Given the description of an element on the screen output the (x, y) to click on. 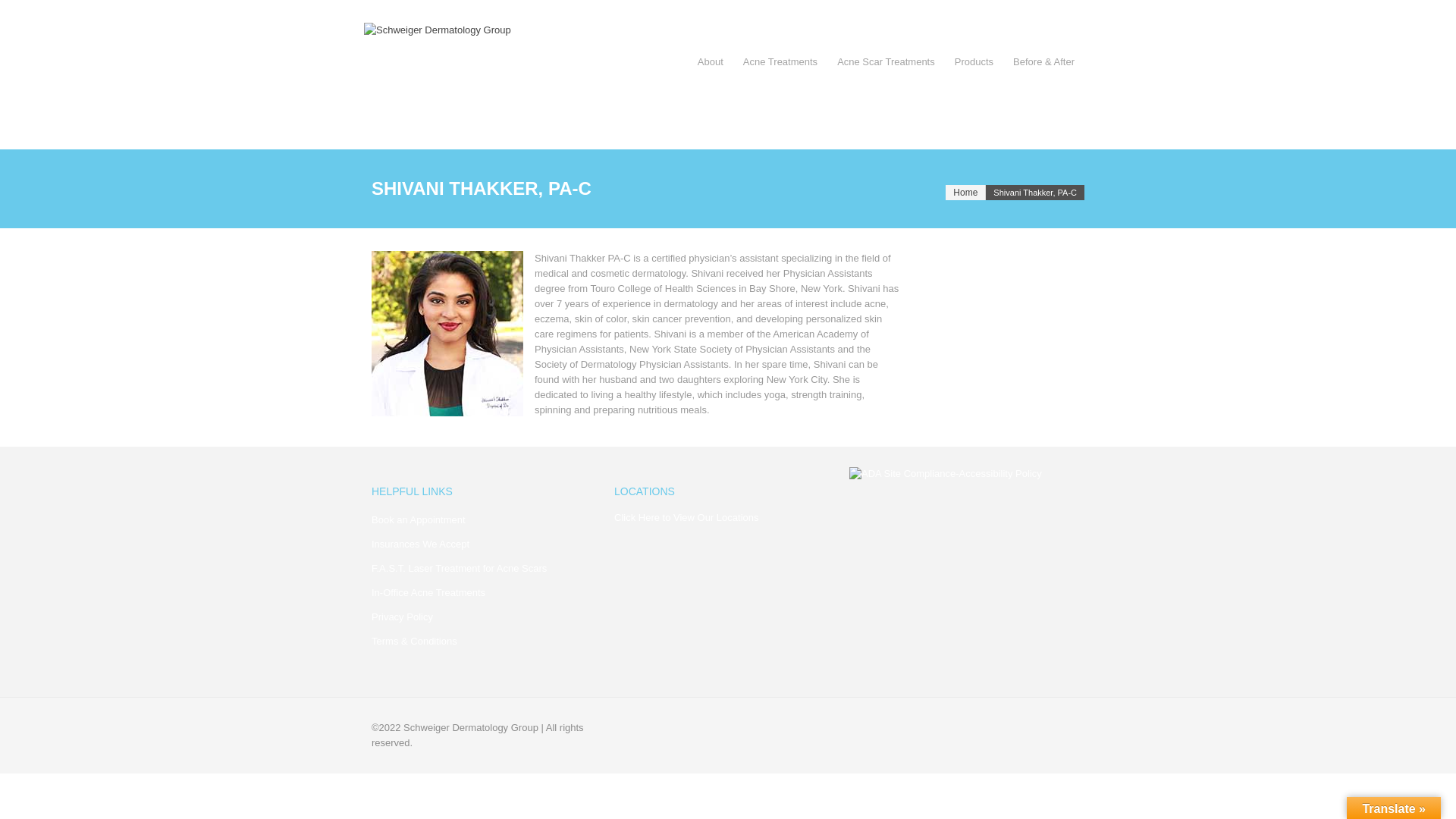
Home (964, 192)
Acne Treatments (780, 61)
Click Here to View Our Locations (686, 517)
Book an Appointment (418, 519)
Products (973, 61)
Insurances We Accept (419, 543)
About (710, 61)
In-Office Acne Treatments (427, 592)
F.A.S.T. Laser Treatment for Acne Scars (459, 568)
Privacy Policy (401, 616)
Acne Scar Treatments (885, 61)
